Given the description of an element on the screen output the (x, y) to click on. 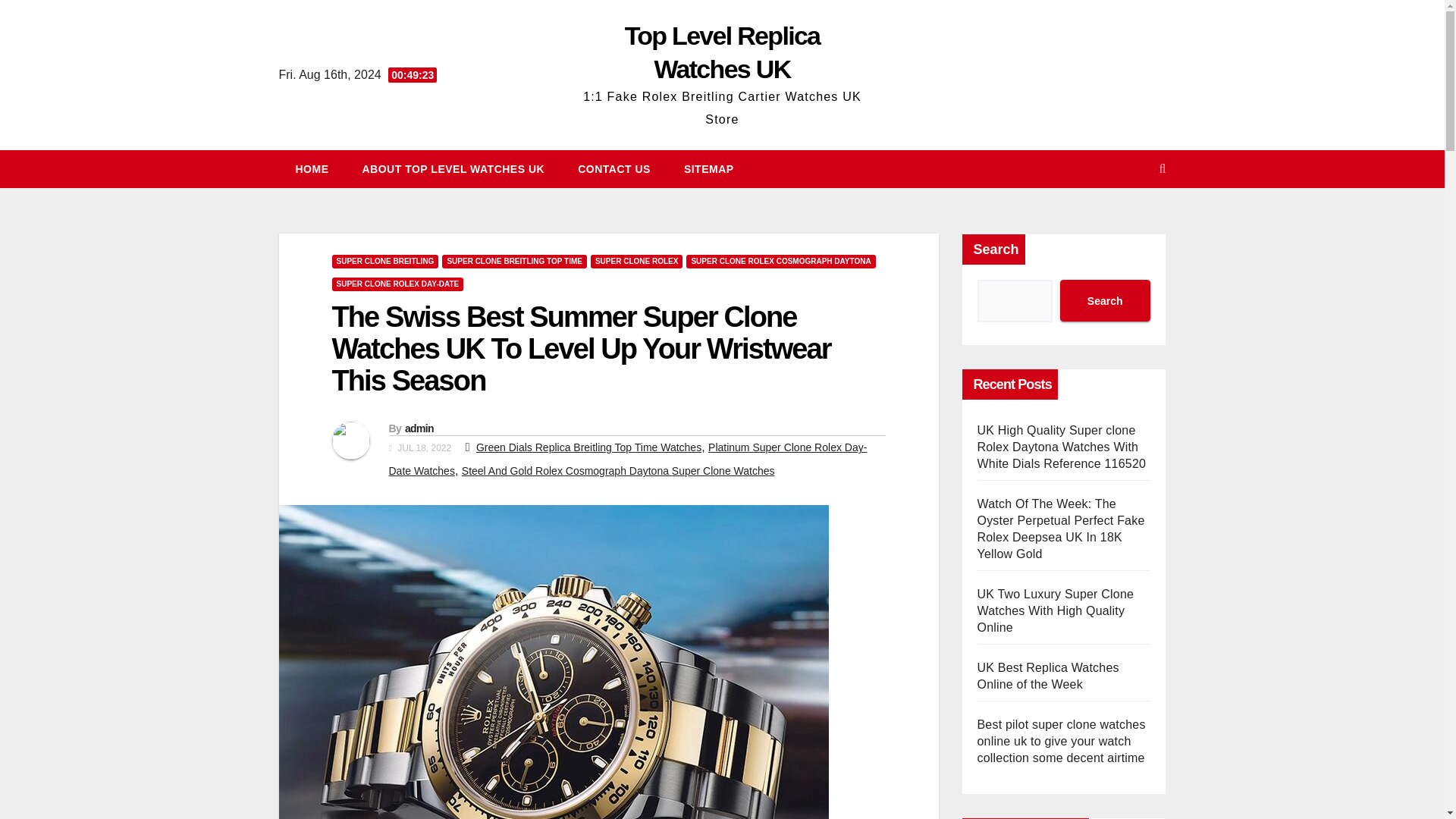
Platinum Super Clone Rolex Day-Date Watches (627, 458)
SITEMAP (708, 168)
CONTACT US (613, 168)
Green Dials Replica Breitling Top Time Watches (588, 447)
Steel And Gold Rolex Cosmograph Daytona Super Clone Watches (617, 470)
SUPER CLONE BREITLING (385, 261)
Home (312, 168)
SUPER CLONE ROLEX (636, 261)
SUPER CLONE BREITLING TOP TIME (514, 261)
